Given the description of an element on the screen output the (x, y) to click on. 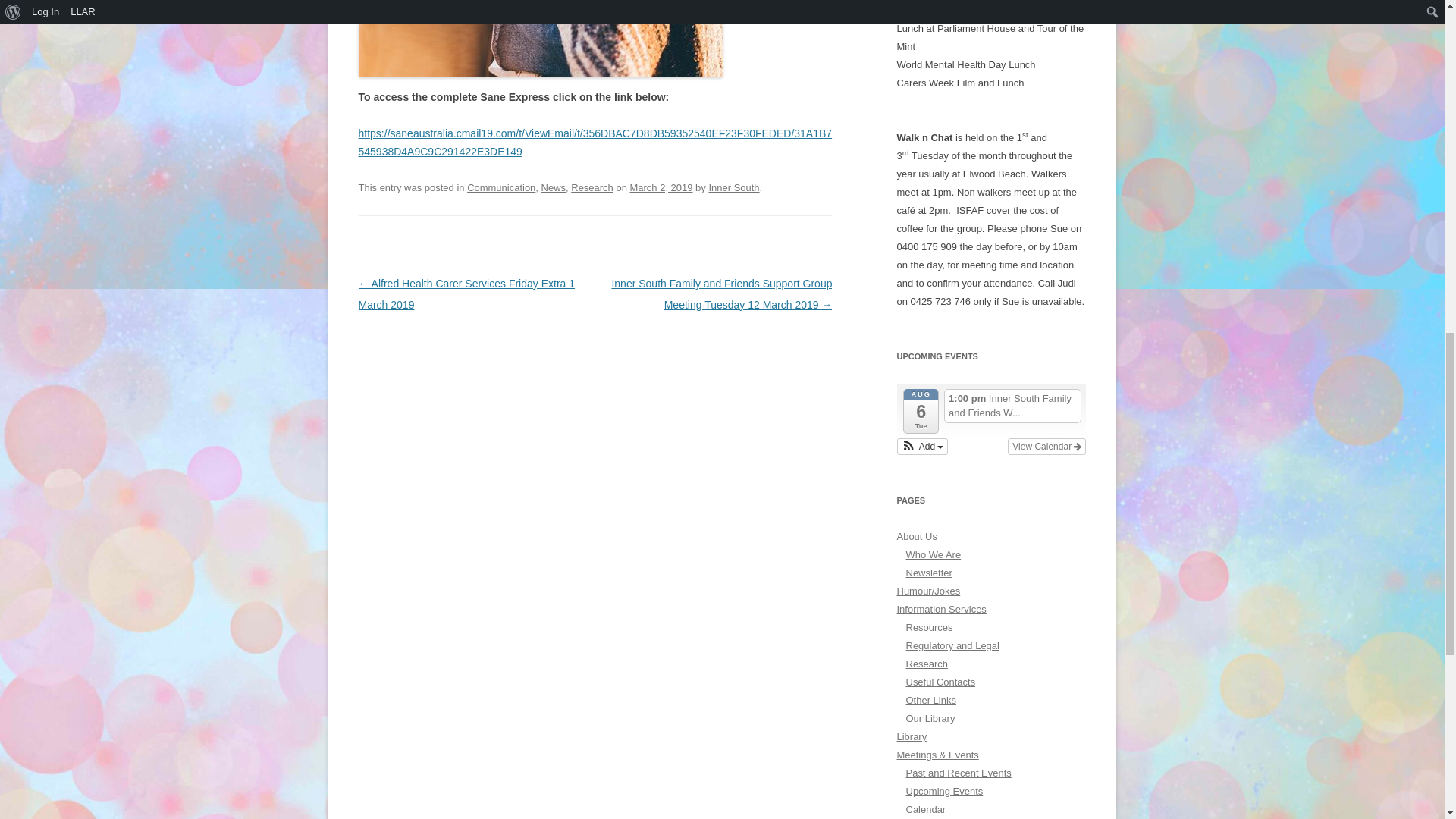
View all posts by Inner South (732, 187)
6:05 pm (660, 187)
